Given the description of an element on the screen output the (x, y) to click on. 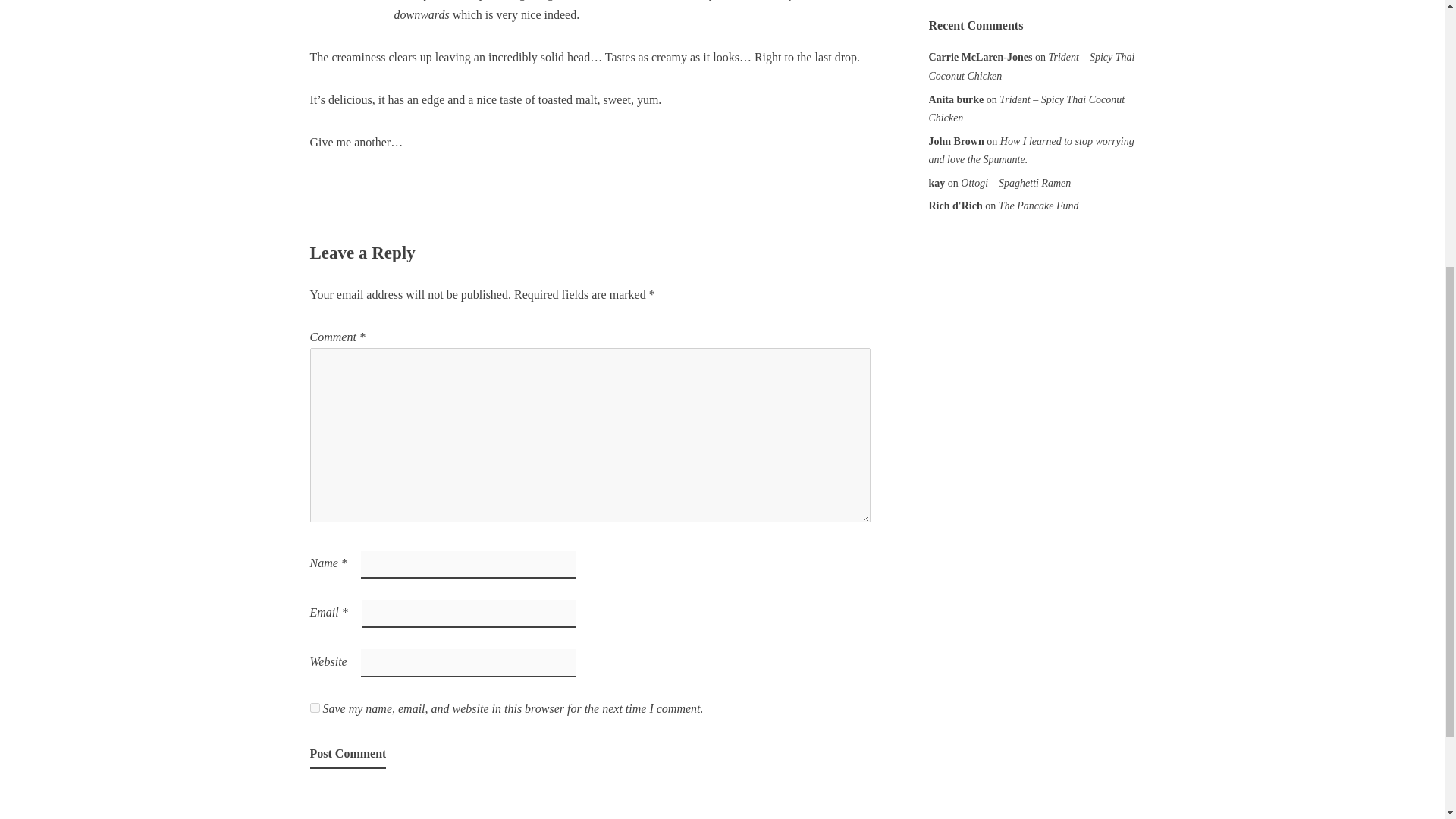
Post Comment (346, 755)
Post Comment (346, 755)
yes (313, 707)
